Given the description of an element on the screen output the (x, y) to click on. 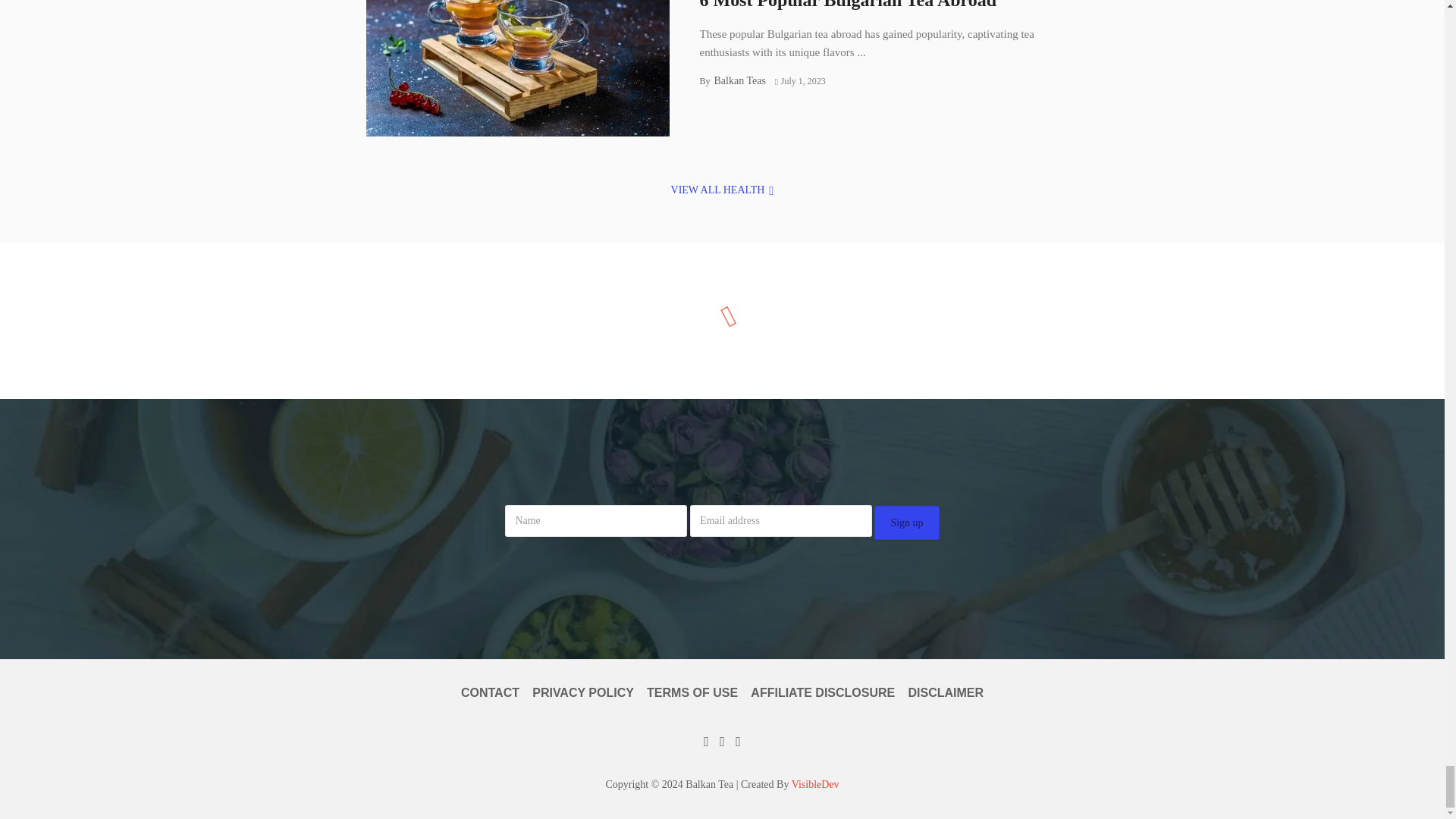
Sign up (907, 522)
